Given the description of an element on the screen output the (x, y) to click on. 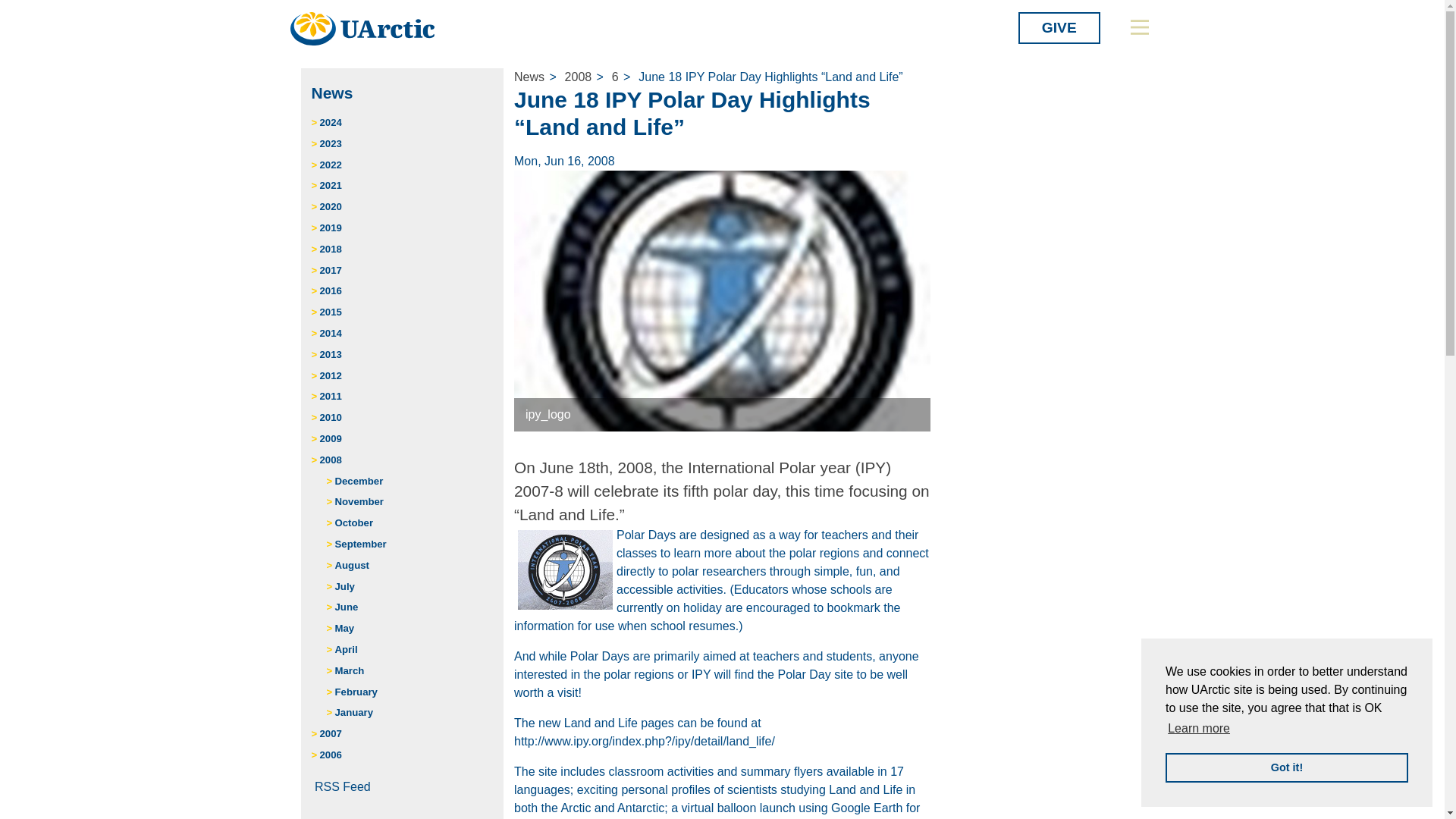
International Polar Year (565, 569)
Learn more (1198, 728)
Got it! (1286, 767)
GIVE (1058, 28)
